Given the description of an element on the screen output the (x, y) to click on. 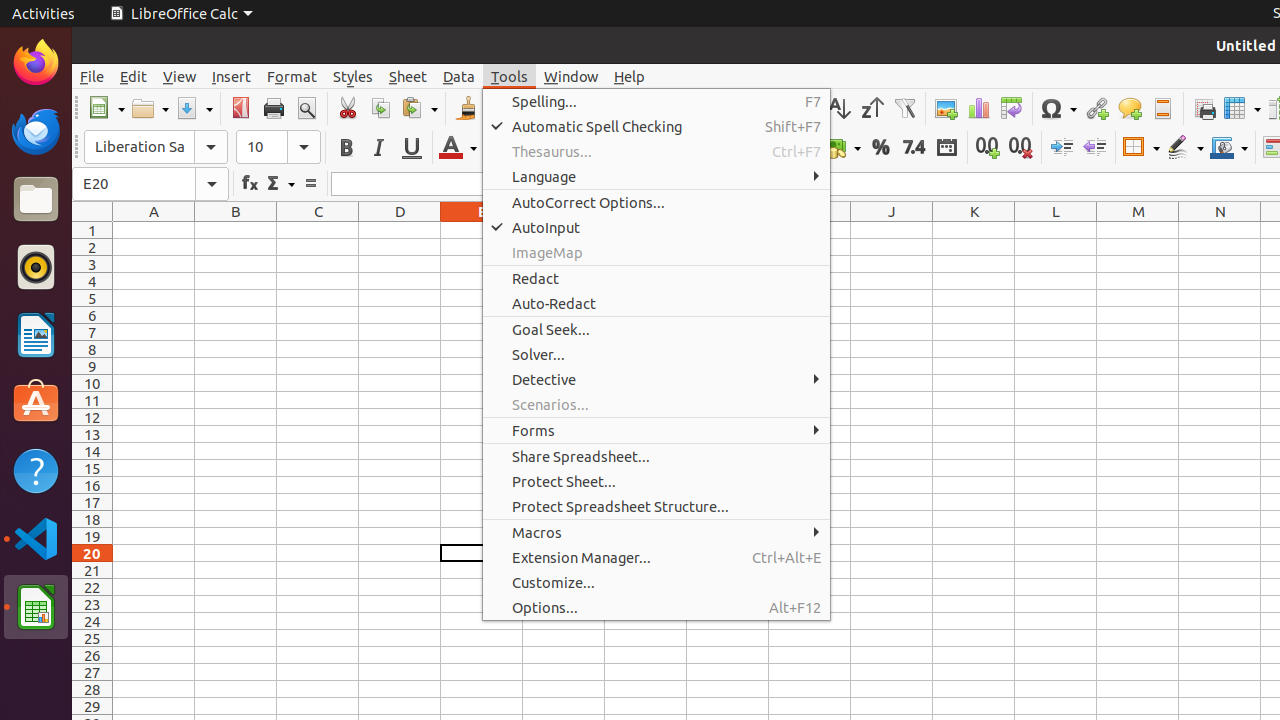
Underline Element type: push-button (411, 147)
Protect Spreadsheet Structure... Element type: check-menu-item (656, 506)
LibreOffice Writer Element type: push-button (36, 334)
G1 Element type: table-cell (646, 230)
AutoCorrect Options... Element type: menu-item (656, 202)
